Given the description of an element on the screen output the (x, y) to click on. 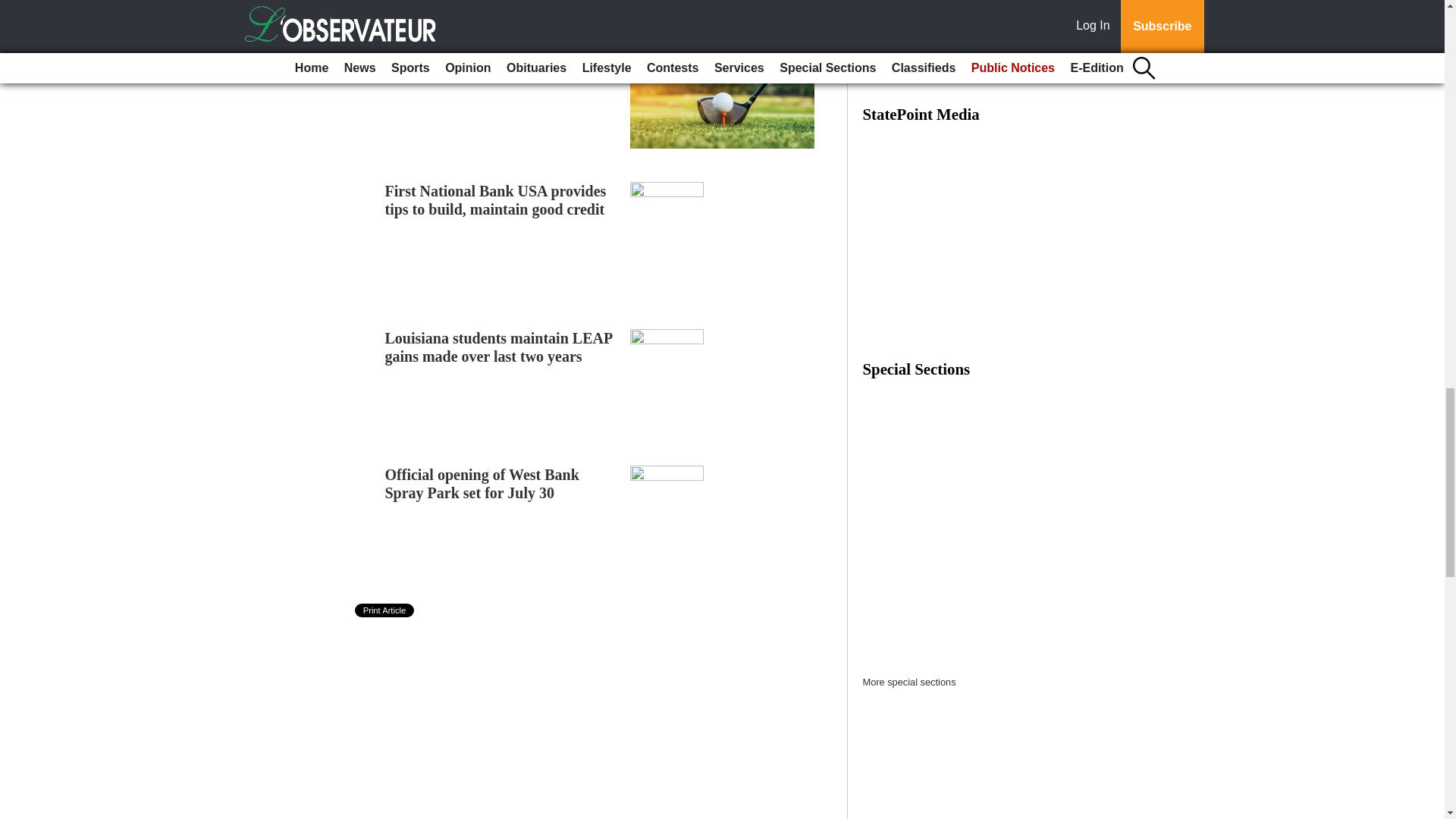
Youth golf league registration opens (501, 54)
Official opening of West Bank Spray Park set for July 30 (482, 483)
Youth golf league registration opens (501, 54)
Official opening of West Bank Spray Park set for July 30 (482, 483)
Print Article (384, 610)
